Given the description of an element on the screen output the (x, y) to click on. 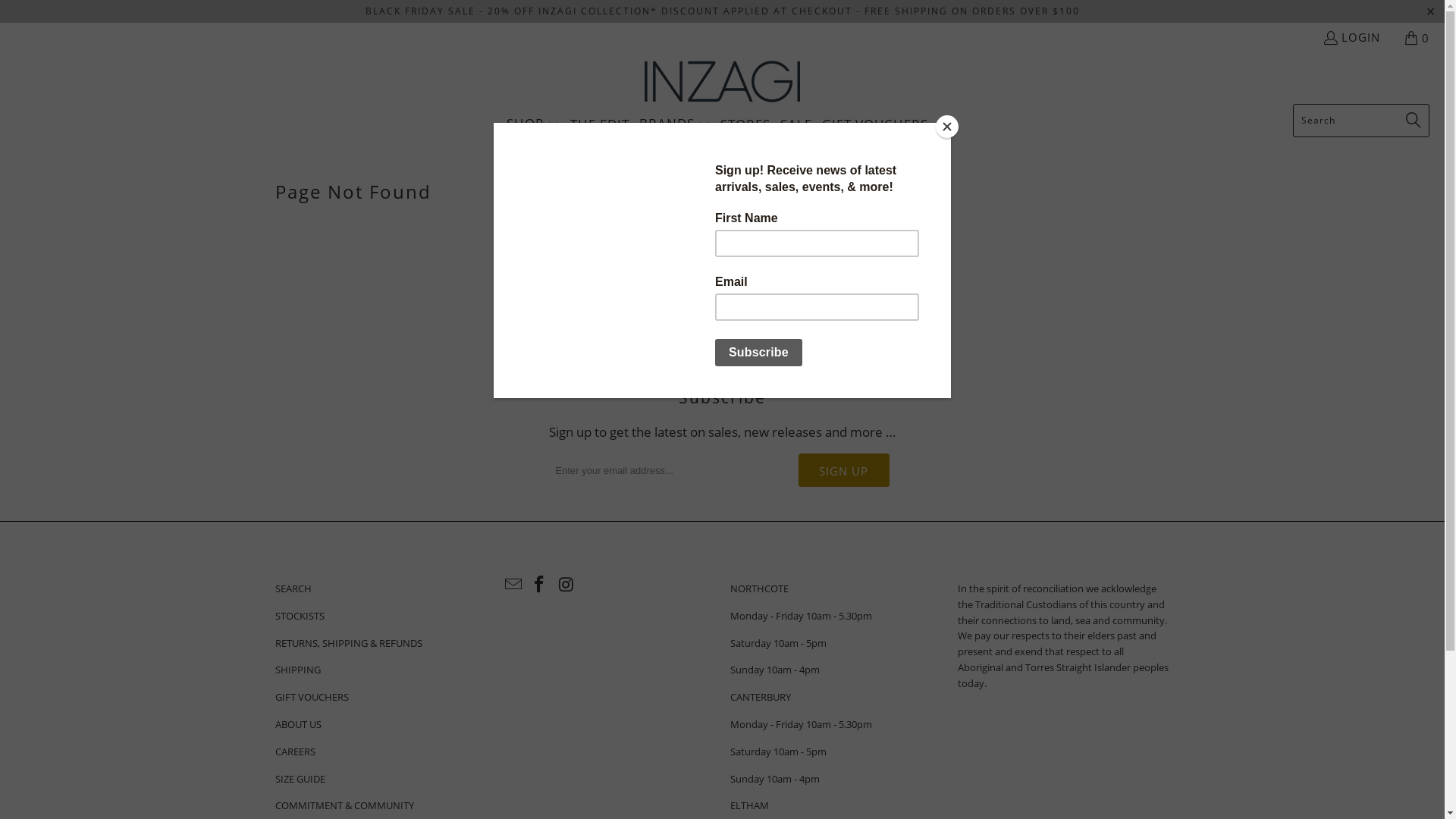
0 Element type: text (1417, 37)
GIFT VOUCHERS Element type: text (875, 124)
LOGIN Element type: text (1350, 37)
INZAGI on Instagram Element type: hover (566, 584)
RETURNS, SHIPPING & REFUNDS Element type: text (347, 642)
ELTHAM Element type: text (748, 805)
Sign Up Element type: text (842, 469)
NORTHCOTE Element type: text (758, 588)
ABOUT US Element type: text (297, 724)
Email INZAGI Element type: hover (513, 584)
CAREERS Element type: text (294, 751)
INZAGI Element type: hover (722, 81)
THE EDIT Element type: text (599, 124)
GIFT VOUCHERS Element type: text (311, 696)
SALE Element type: text (796, 124)
SEARCH Element type: text (292, 588)
SHIPPING Element type: text (297, 669)
INZAGI on Facebook Element type: hover (539, 584)
SIZE GUIDE Element type: text (299, 778)
COMMITMENT & COMMUNITY Element type: text (343, 805)
STORES Element type: text (745, 124)
STOCKISTS Element type: text (298, 615)
CANTERBURY Element type: text (759, 696)
